Given the description of an element on the screen output the (x, y) to click on. 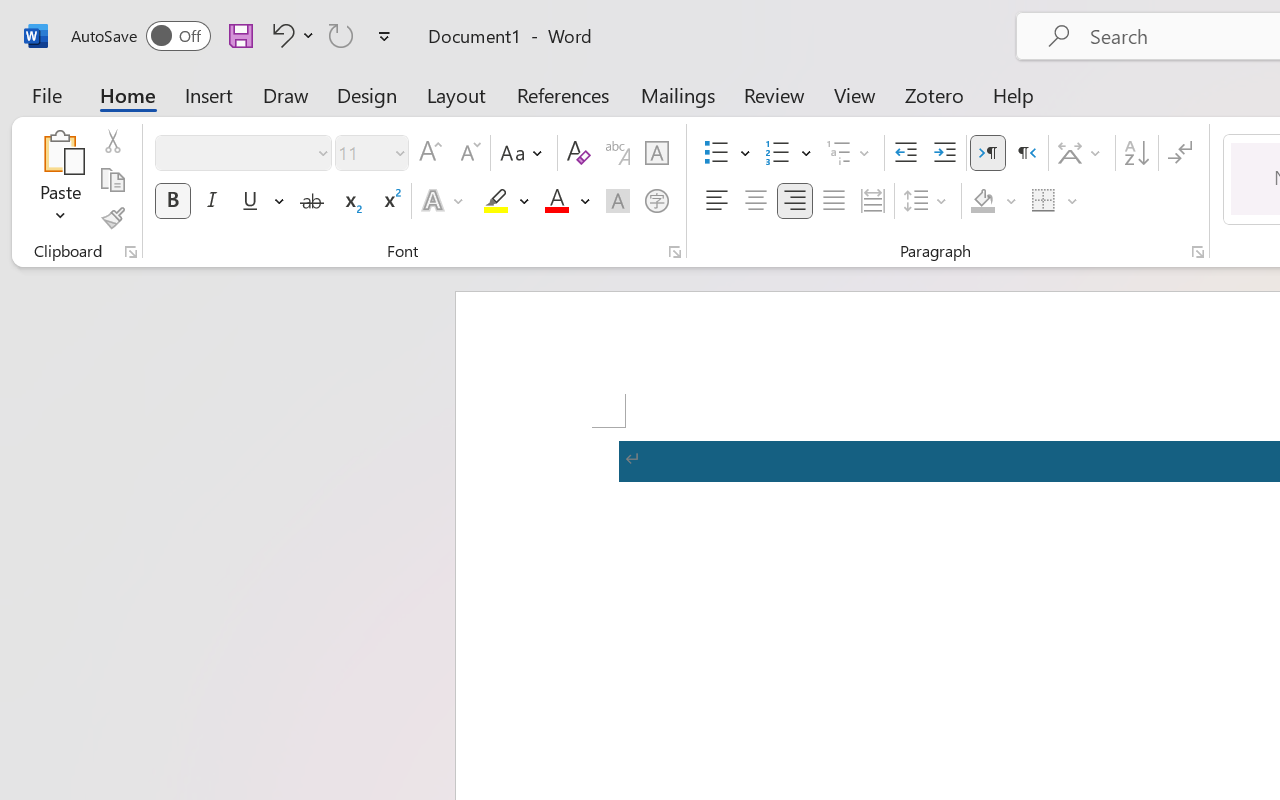
Font Color RGB(255, 0, 0) (556, 201)
